Given the description of an element on the screen output the (x, y) to click on. 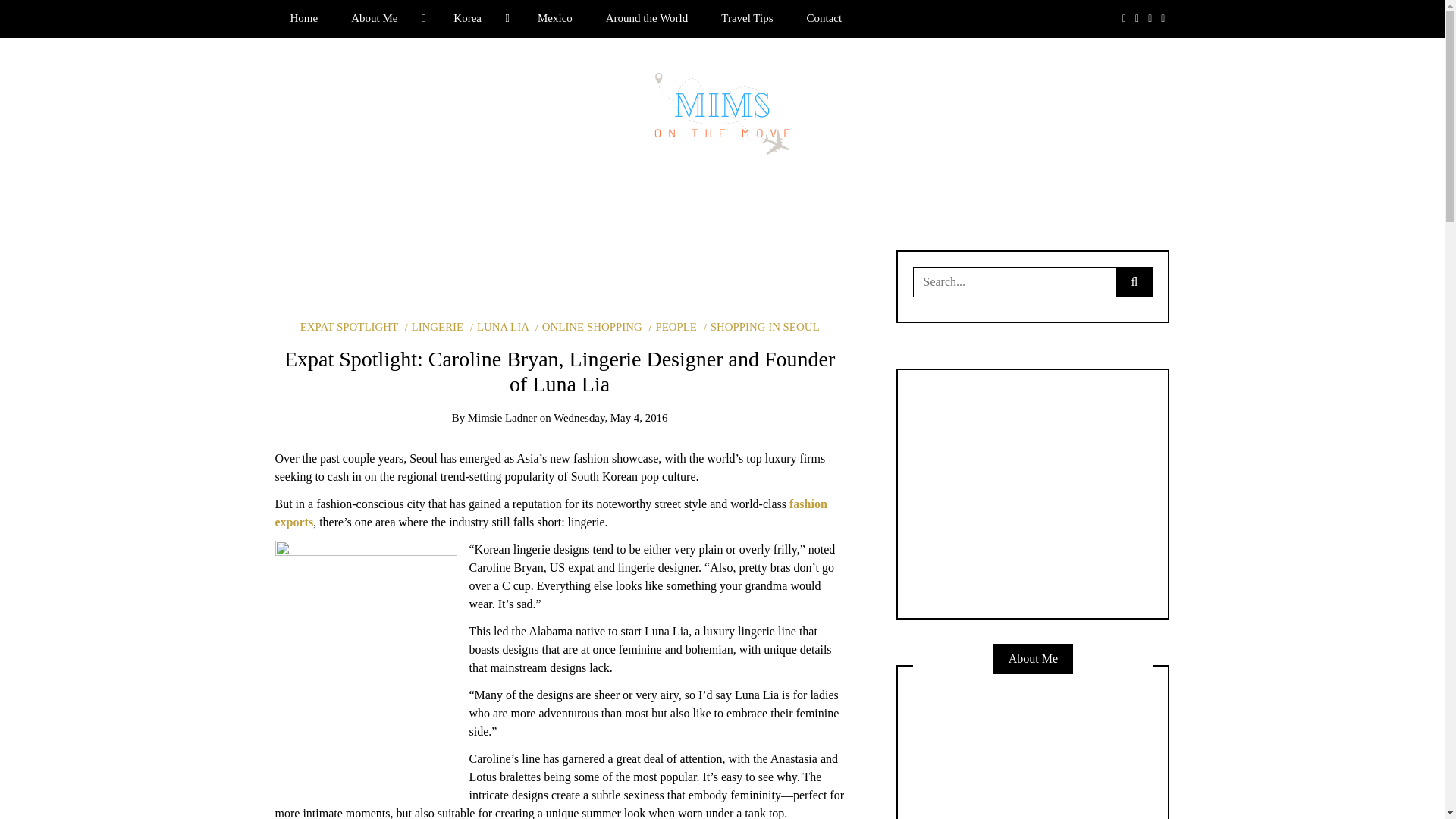
Around the World (647, 18)
Mimsie Ladner (502, 417)
EXPAT SPOTLIGHT (348, 326)
Travel Tips (746, 18)
About Me (385, 18)
Contact (823, 18)
Posts by Mimsie Ladner (502, 417)
LUNA LIA (499, 326)
Home (304, 18)
SHOPPING IN SEOUL (761, 326)
fashion exports (551, 512)
Wednesday, May 4, 2016 (609, 417)
Mexico (555, 18)
LINGERIE (433, 326)
Korea (478, 18)
